Given the description of an element on the screen output the (x, y) to click on. 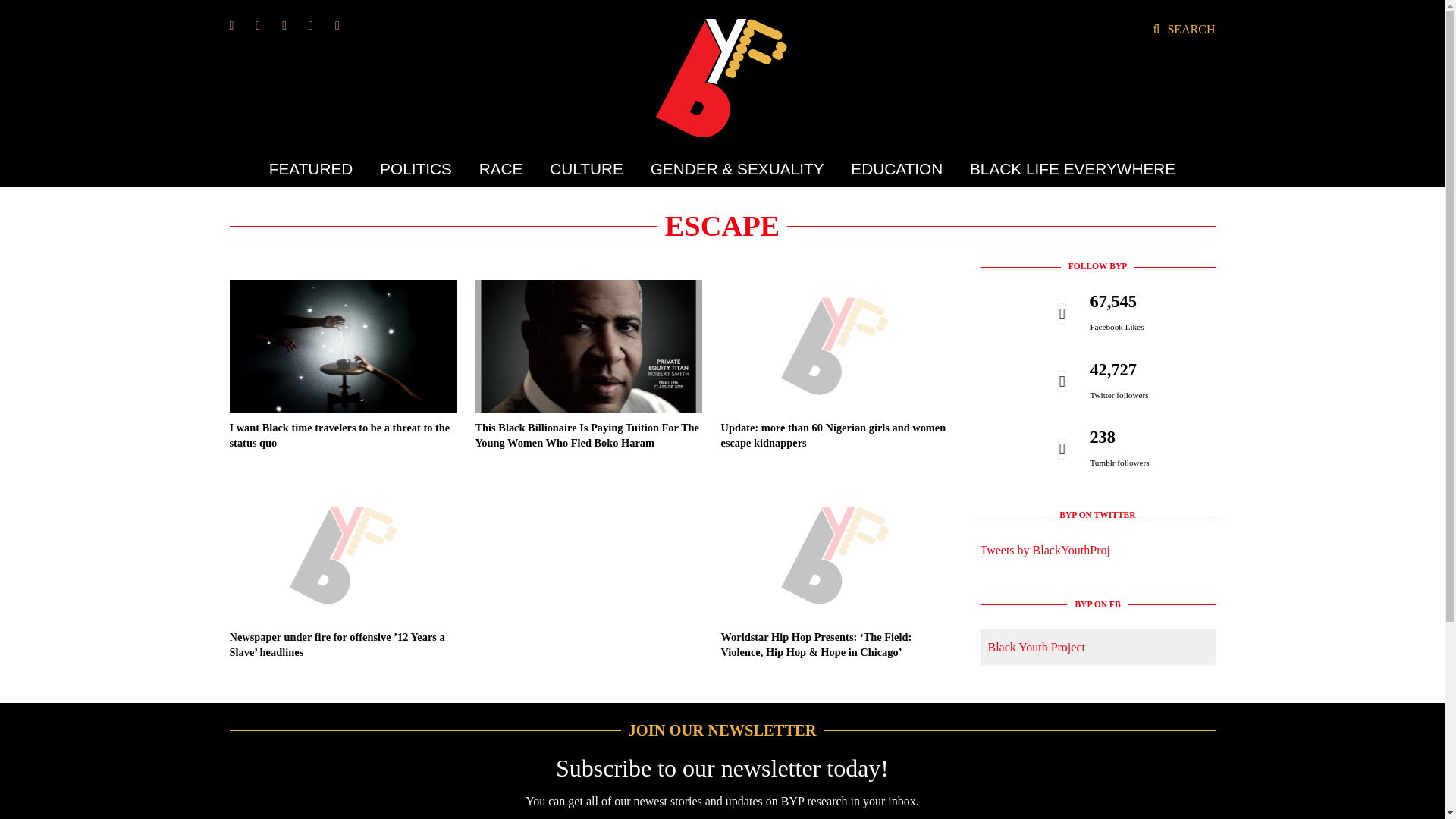
Tweets by BlackYouthProj (1044, 549)
FEATURED (317, 168)
SEARCH (1183, 29)
RACE (500, 168)
I want Black time travelers to be a threat to the status quo (338, 434)
CULTURE (586, 168)
POLITICS (415, 168)
EDUCATION (896, 168)
